Given the description of an element on the screen output the (x, y) to click on. 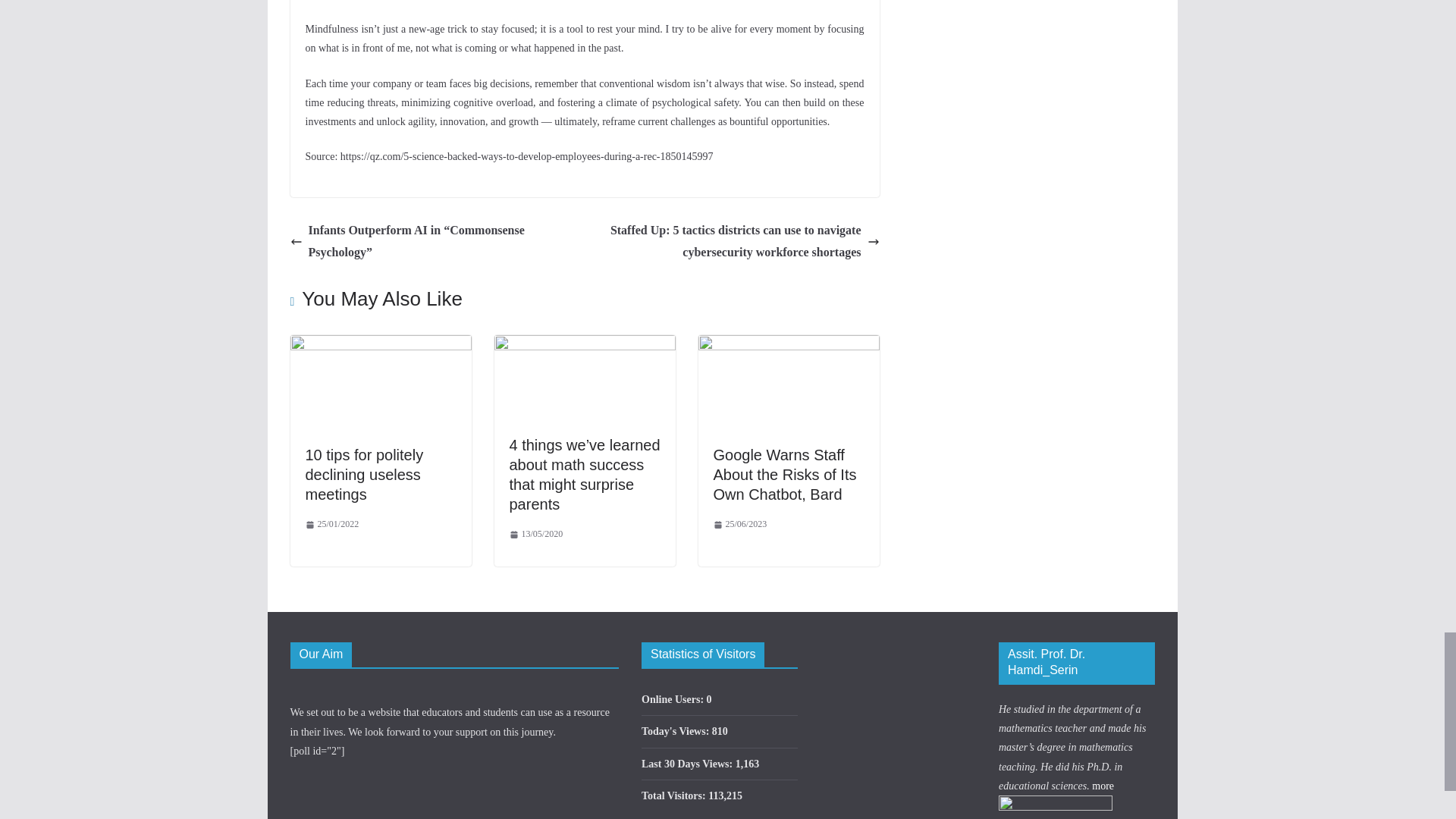
10 tips for politely declining useless meetings (363, 474)
10 tips for politely declining useless meetings (379, 345)
20:21 (331, 524)
10 tips for politely declining useless meetings (363, 474)
Google Warns Staff About the Risks of Its Own Chatbot, Bard (784, 474)
